Given the description of an element on the screen output the (x, y) to click on. 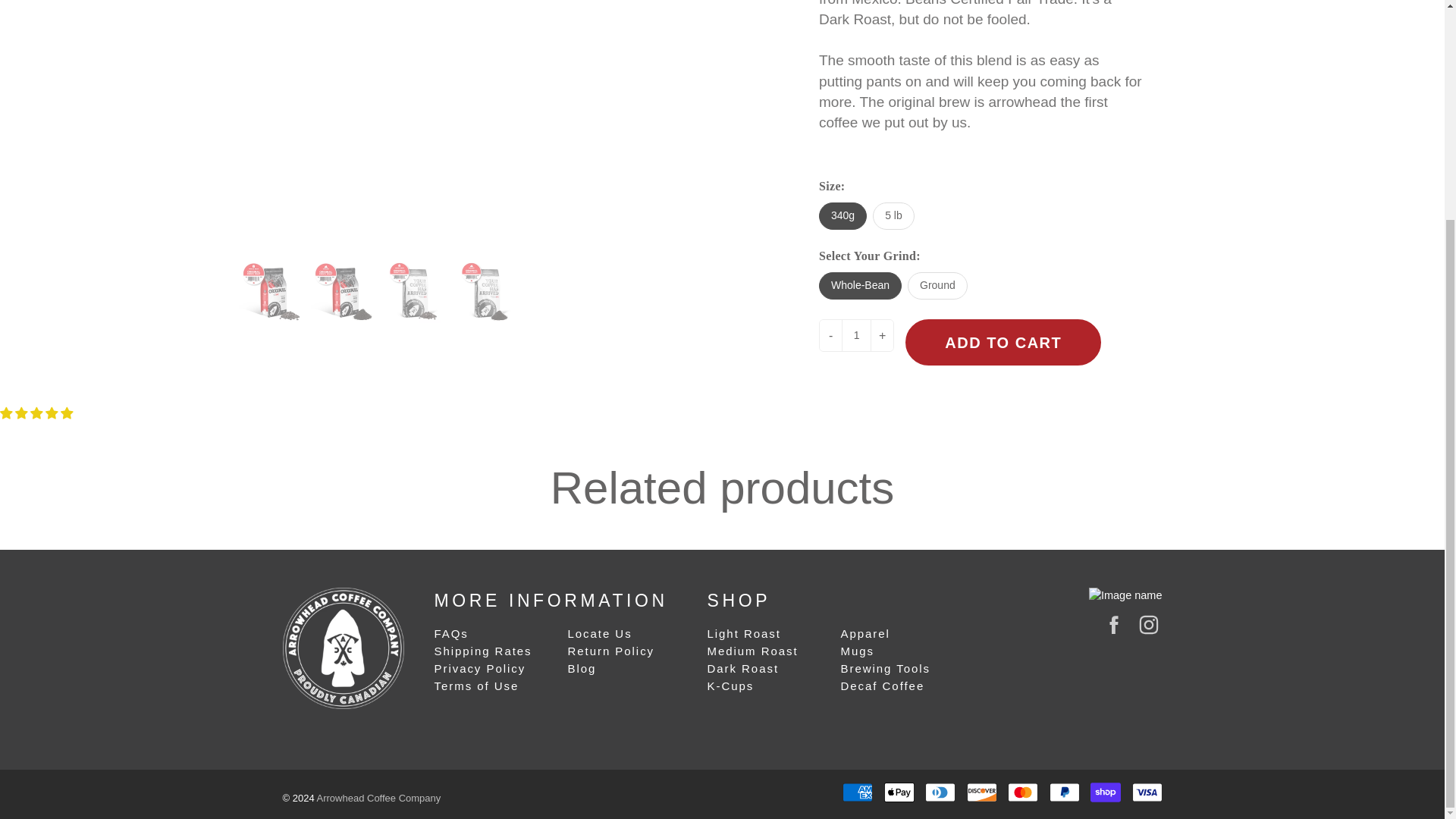
Instagram (1148, 624)
Visa (1146, 792)
French Roast Dark Coffee - Original (486, 290)
1 (855, 335)
Discover (981, 792)
Facebook (1113, 624)
PayPal (1064, 792)
French Roast Dark Coffee - Original (270, 290)
Shop Pay (1105, 792)
French Roast Dark Coffee - Original (343, 290)
